Given the description of an element on the screen output the (x, y) to click on. 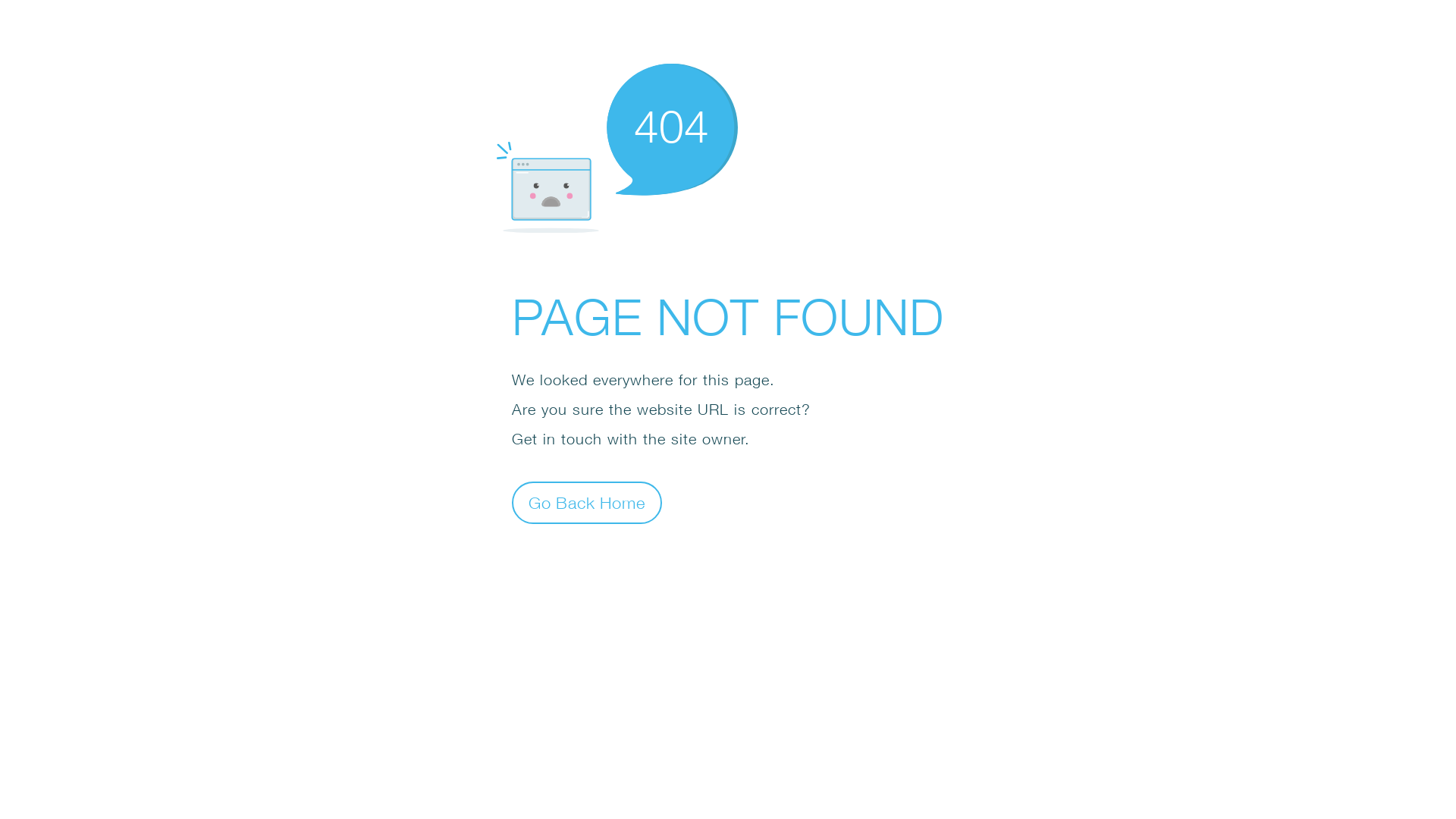
Go Back Home Element type: text (586, 502)
